Given the description of an element on the screen output the (x, y) to click on. 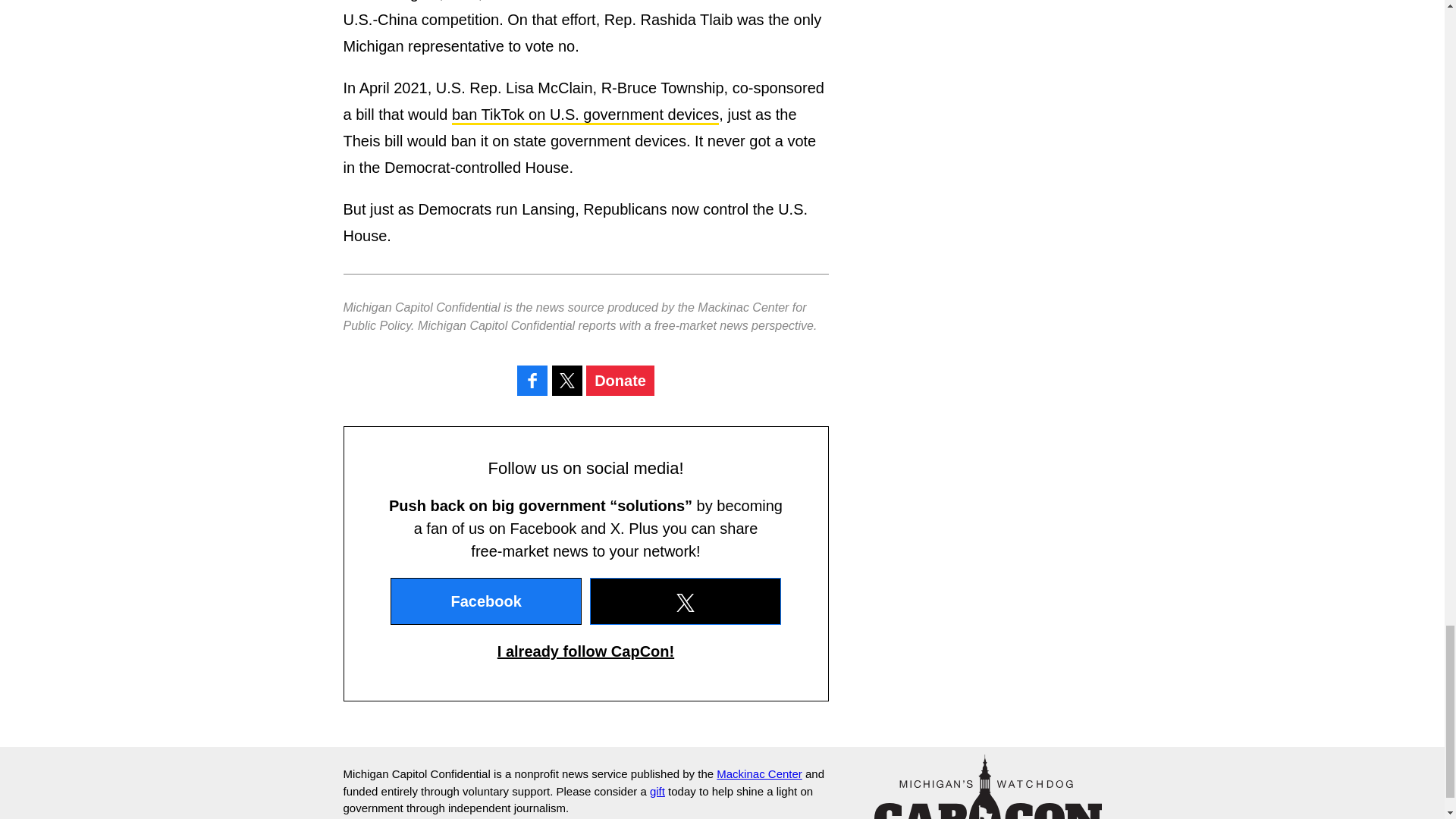
ban TikTok on U.S. government devices (585, 115)
